Given the description of an element on the screen output the (x, y) to click on. 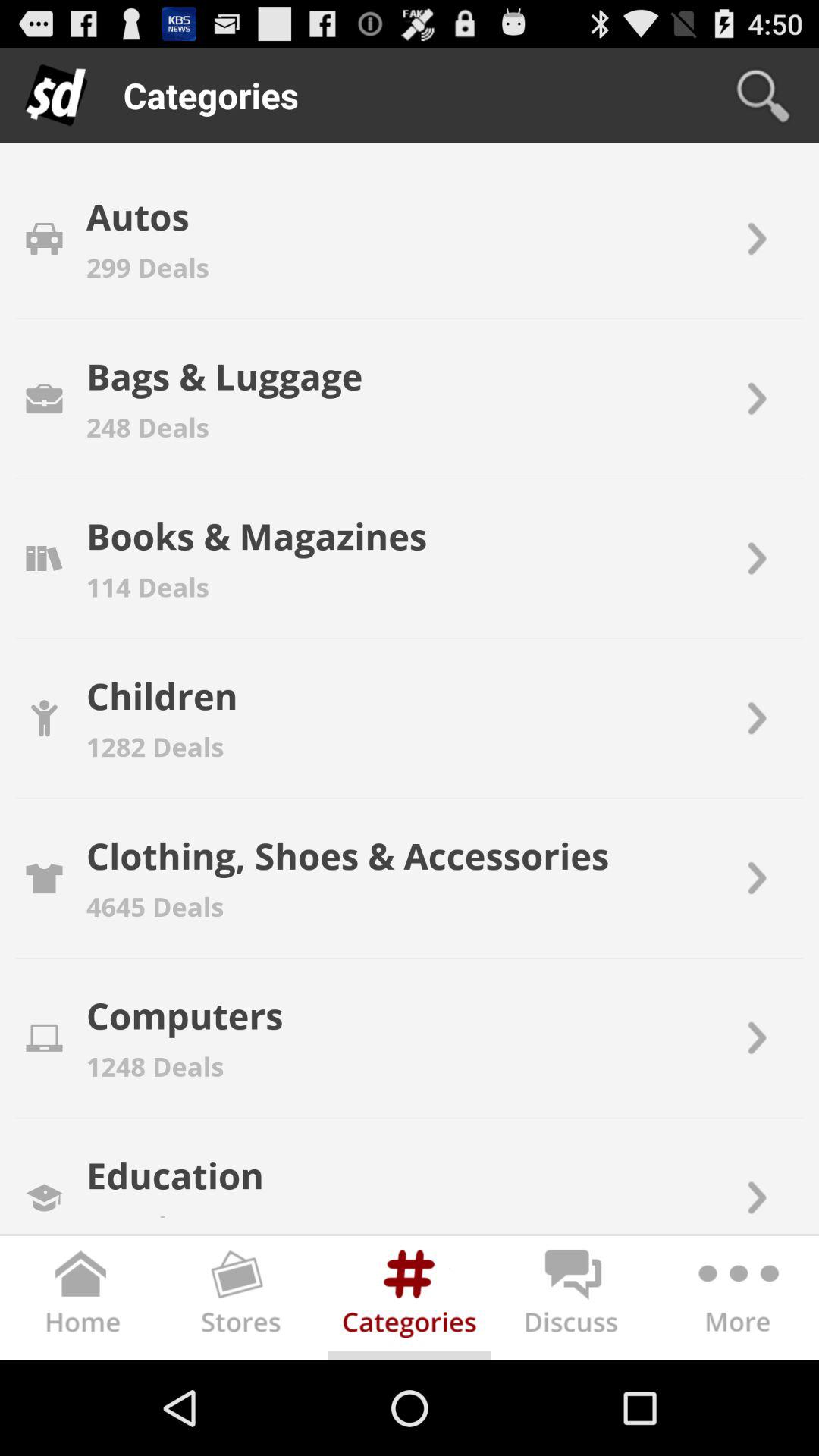
go home (81, 1301)
